Given the description of an element on the screen output the (x, y) to click on. 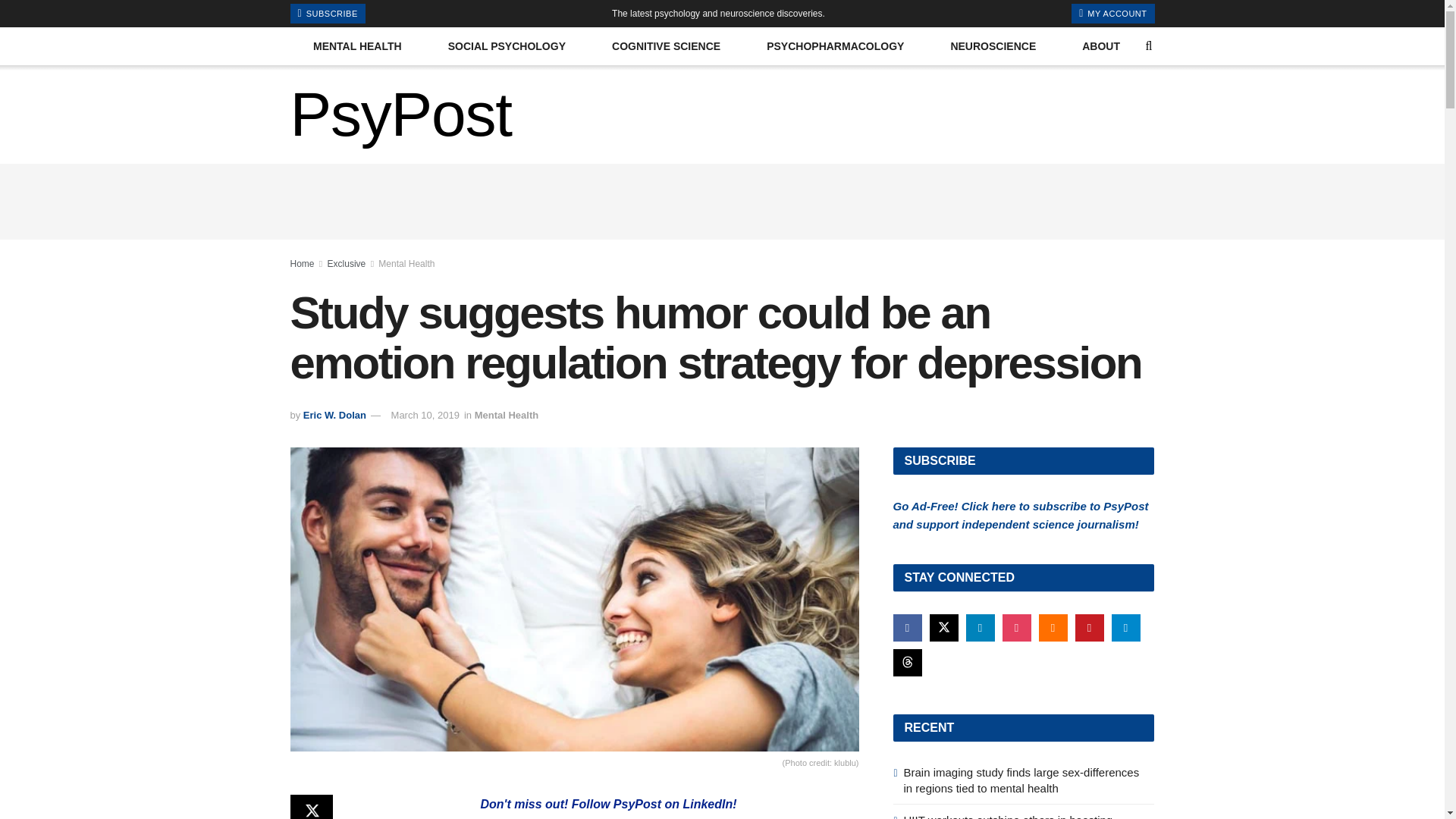
NEUROSCIENCE (993, 46)
Mental Health (506, 414)
March 10, 2019 (425, 414)
COGNITIVE SCIENCE (666, 46)
SOCIAL PSYCHOLOGY (506, 46)
PSYCHOPHARMACOLOGY (835, 46)
SUBSCRIBE (327, 13)
Don't miss out! Follow PsyPost on LinkedIn! (608, 803)
Mental Health (405, 263)
Eric W. Dolan (334, 414)
